Given the description of an element on the screen output the (x, y) to click on. 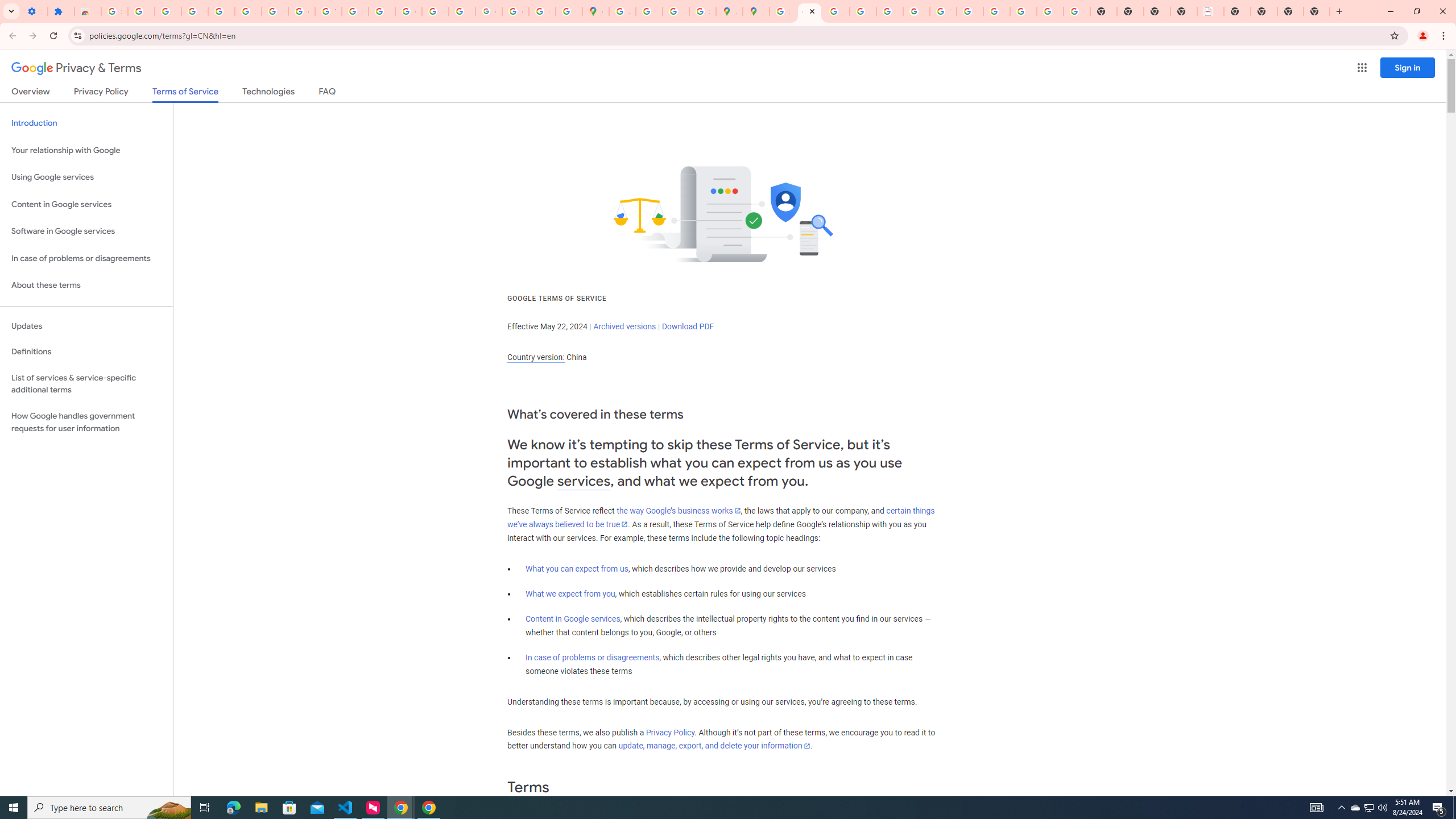
Download PDF (687, 326)
What we expect from you (570, 593)
